Given the description of an element on the screen output the (x, y) to click on. 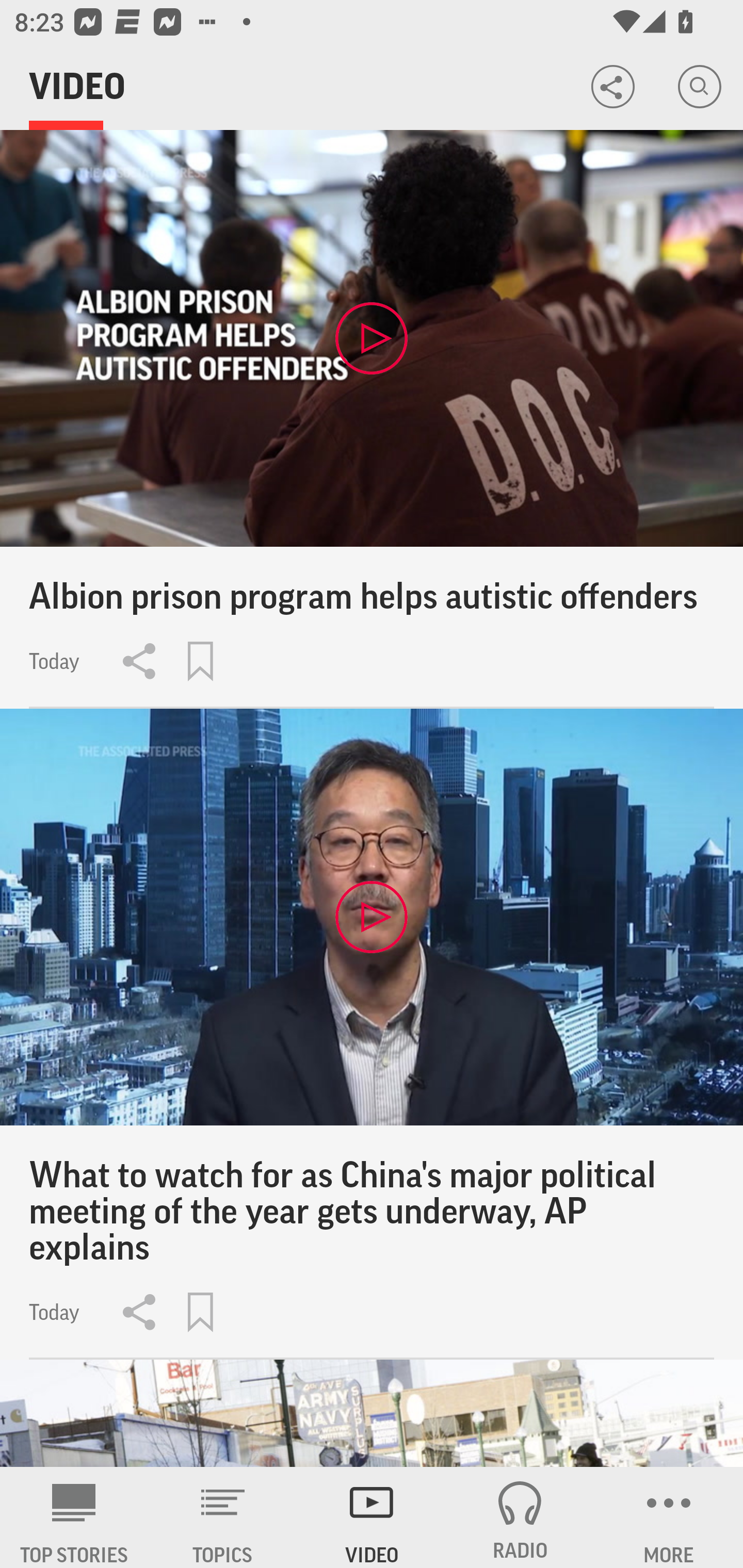
AP News TOP STORIES (74, 1517)
TOPICS (222, 1517)
VIDEO (371, 1517)
RADIO (519, 1517)
MORE (668, 1517)
